Given the description of an element on the screen output the (x, y) to click on. 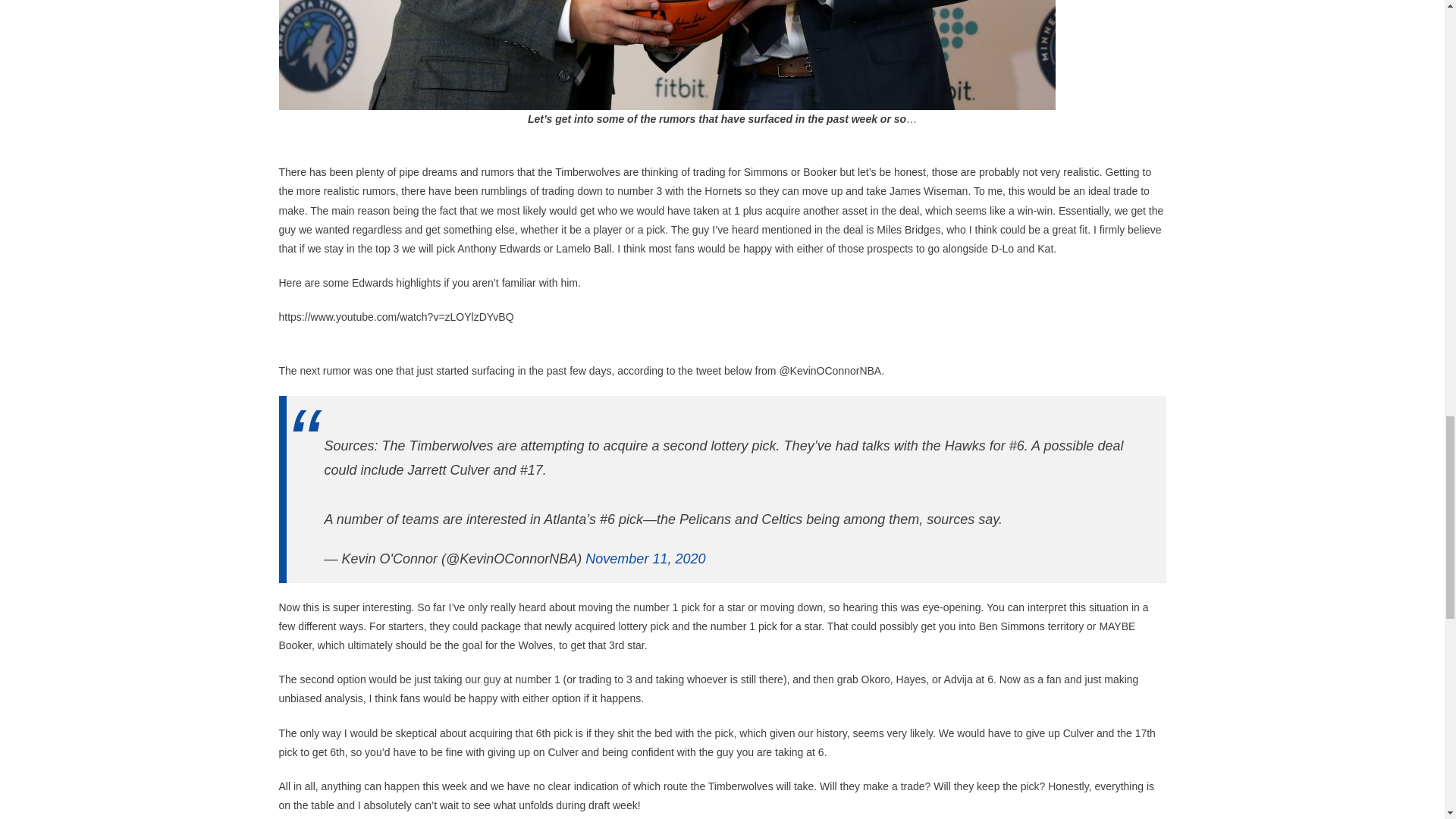
November 11, 2020 (644, 558)
